Given the description of an element on the screen output the (x, y) to click on. 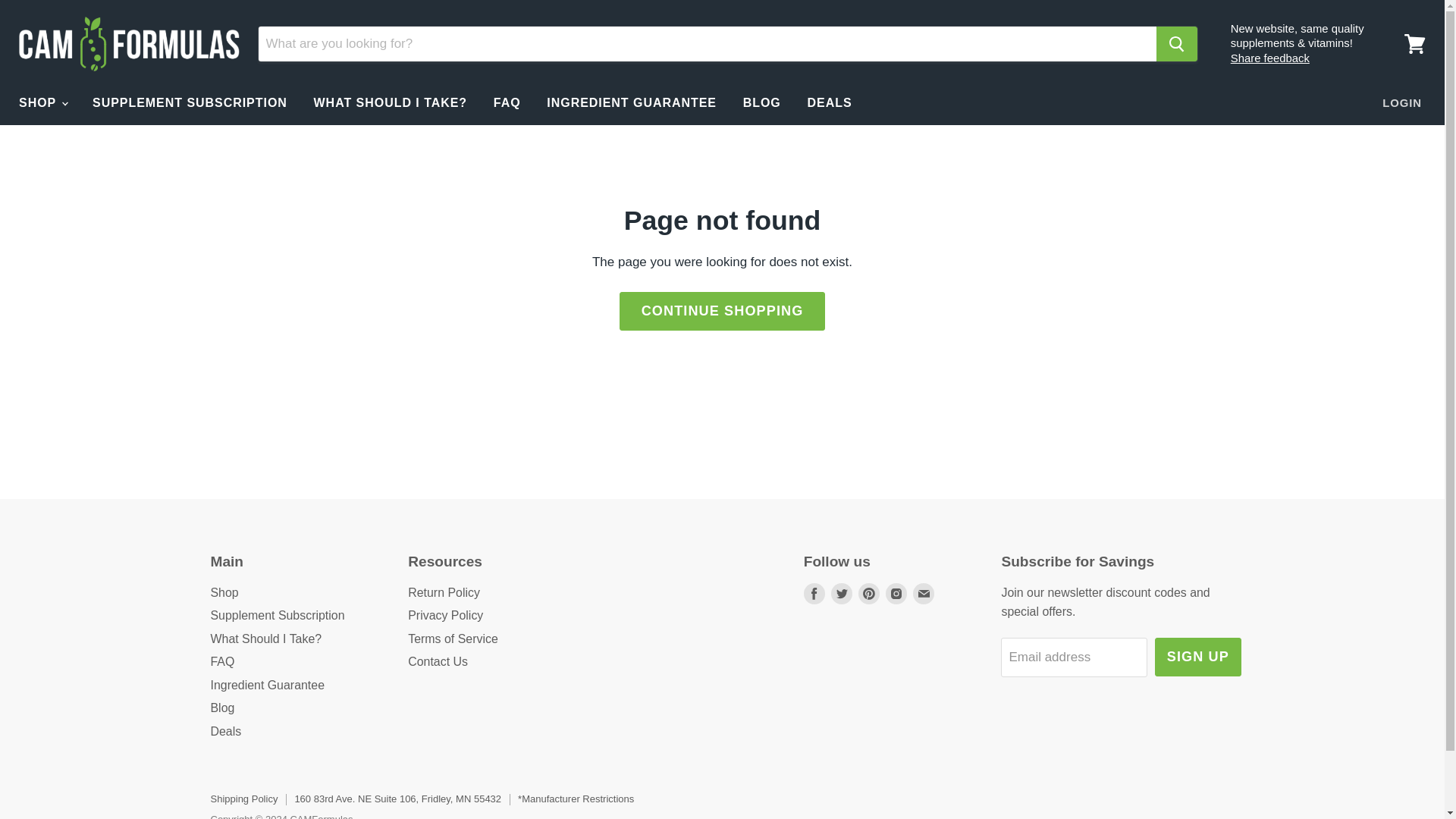
Website Feedback (1269, 58)
SHOP (42, 102)
E-mail (923, 593)
Share feedback (1269, 58)
Pinterest (869, 593)
Facebook (814, 593)
Twitter (841, 593)
View cart (1414, 43)
Instagram (896, 593)
